Given the description of an element on the screen output the (x, y) to click on. 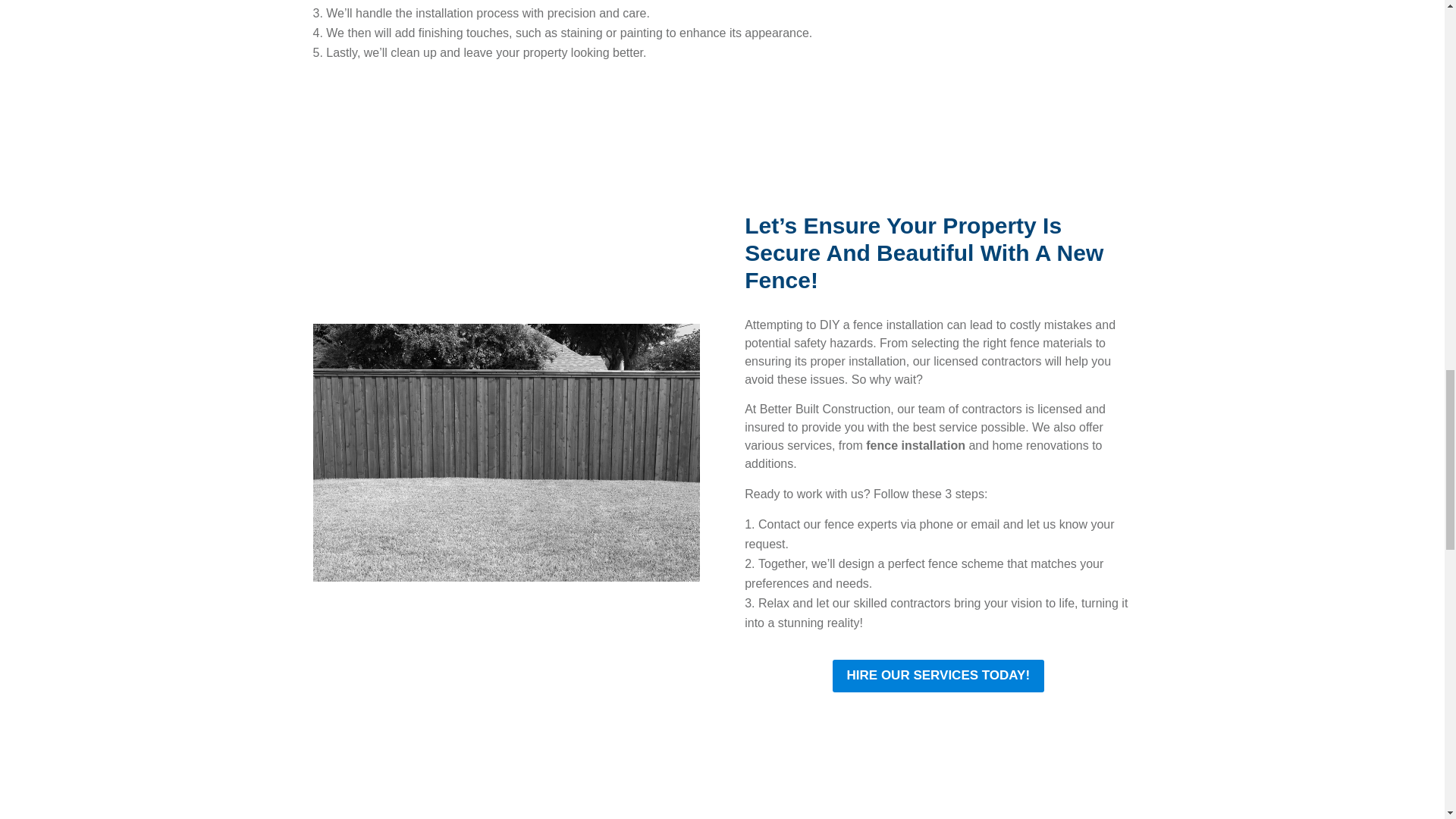
A,Pleasant,Sunny,Backyard,With,Green,Grass,And,A,Nice (505, 452)
HIRE OUR SERVICES TODAY! (938, 676)
